Given the description of an element on the screen output the (x, y) to click on. 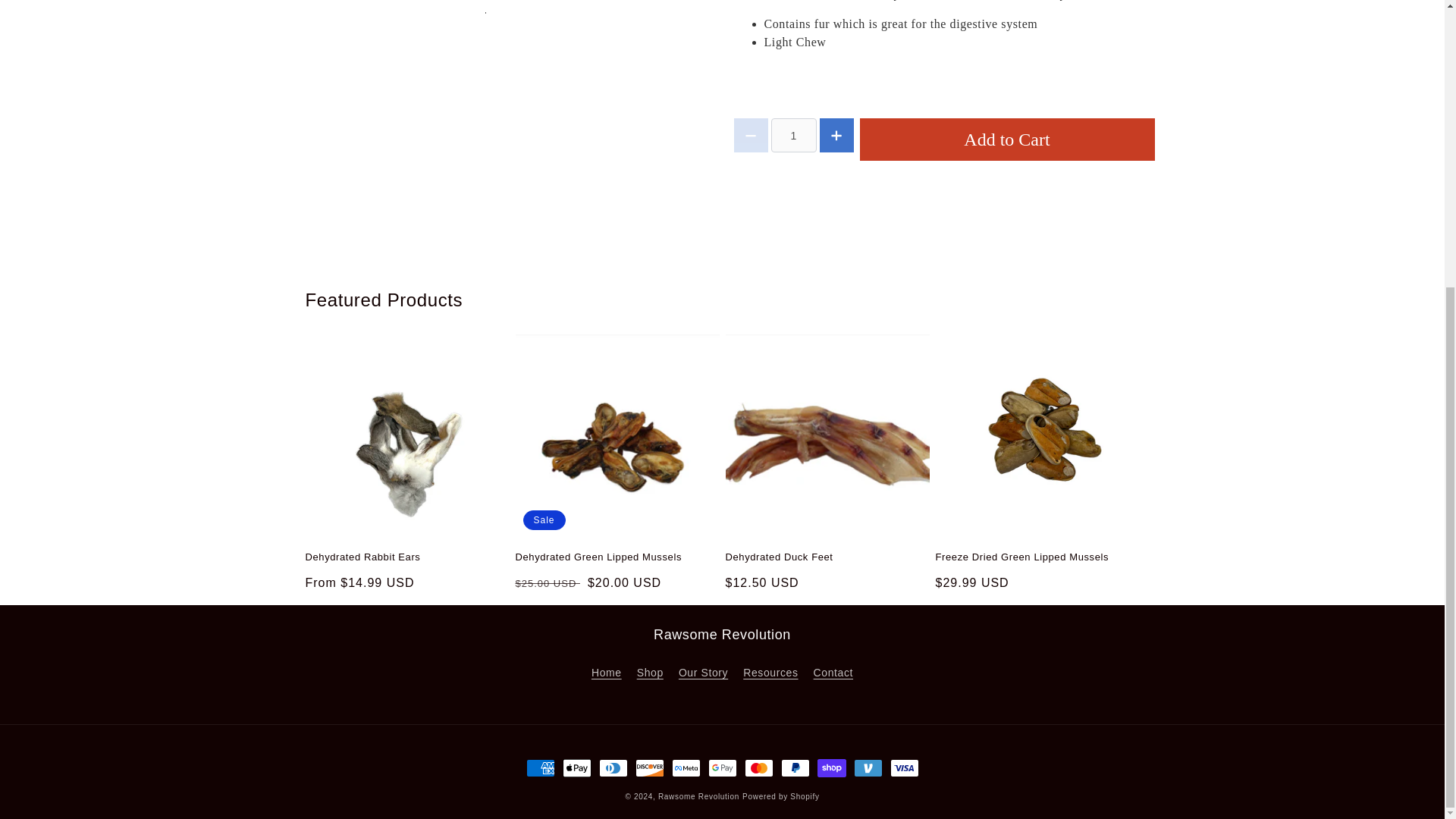
facebook-like (943, 190)
1 (792, 134)
